Given the description of an element on the screen output the (x, y) to click on. 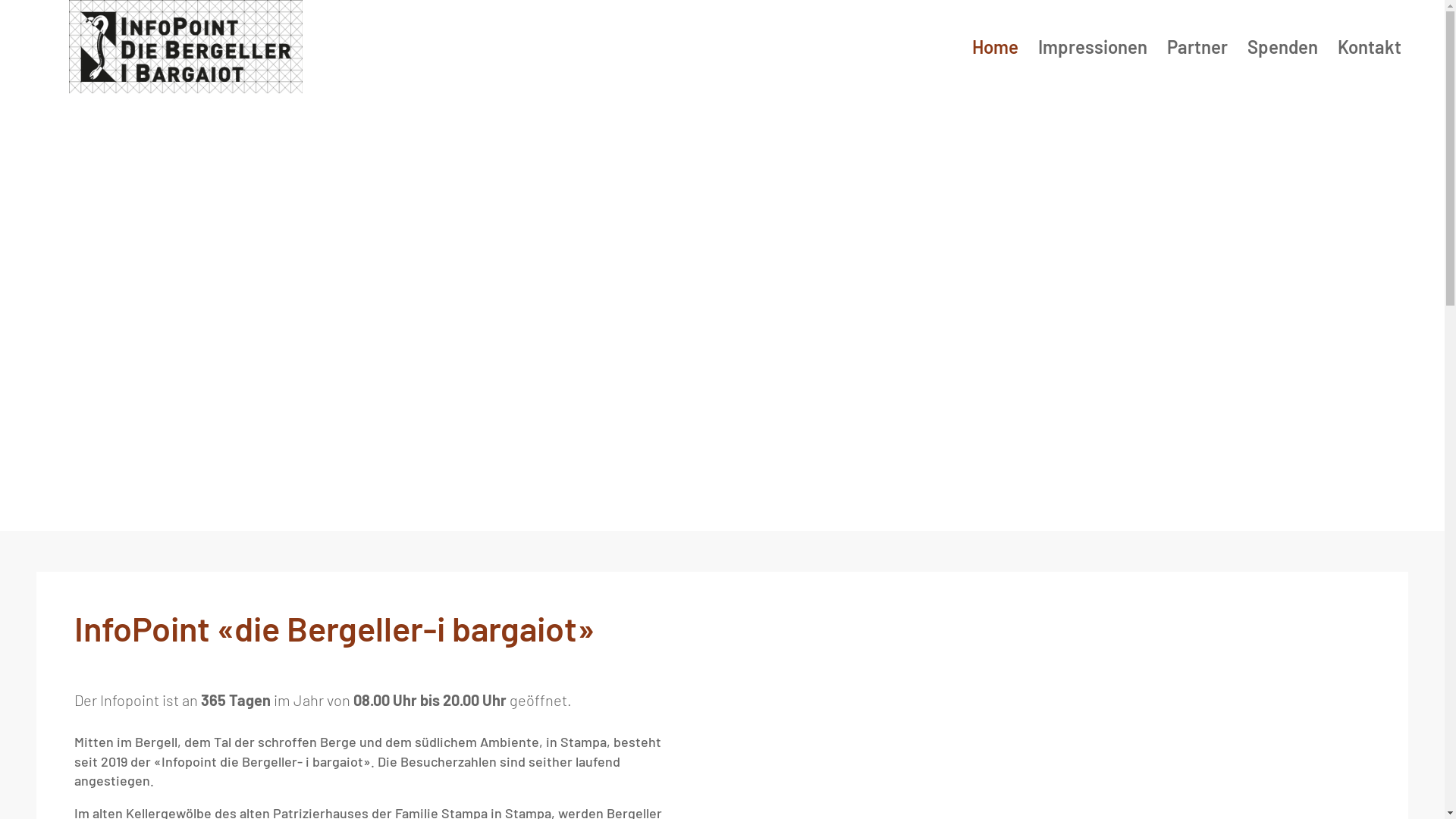
Kontakt Element type: text (1369, 66)
Spenden Element type: text (1282, 66)
Partner Element type: text (1197, 66)
Home Element type: text (995, 66)
Impressionen Element type: text (1092, 66)
